Given the description of an element on the screen output the (x, y) to click on. 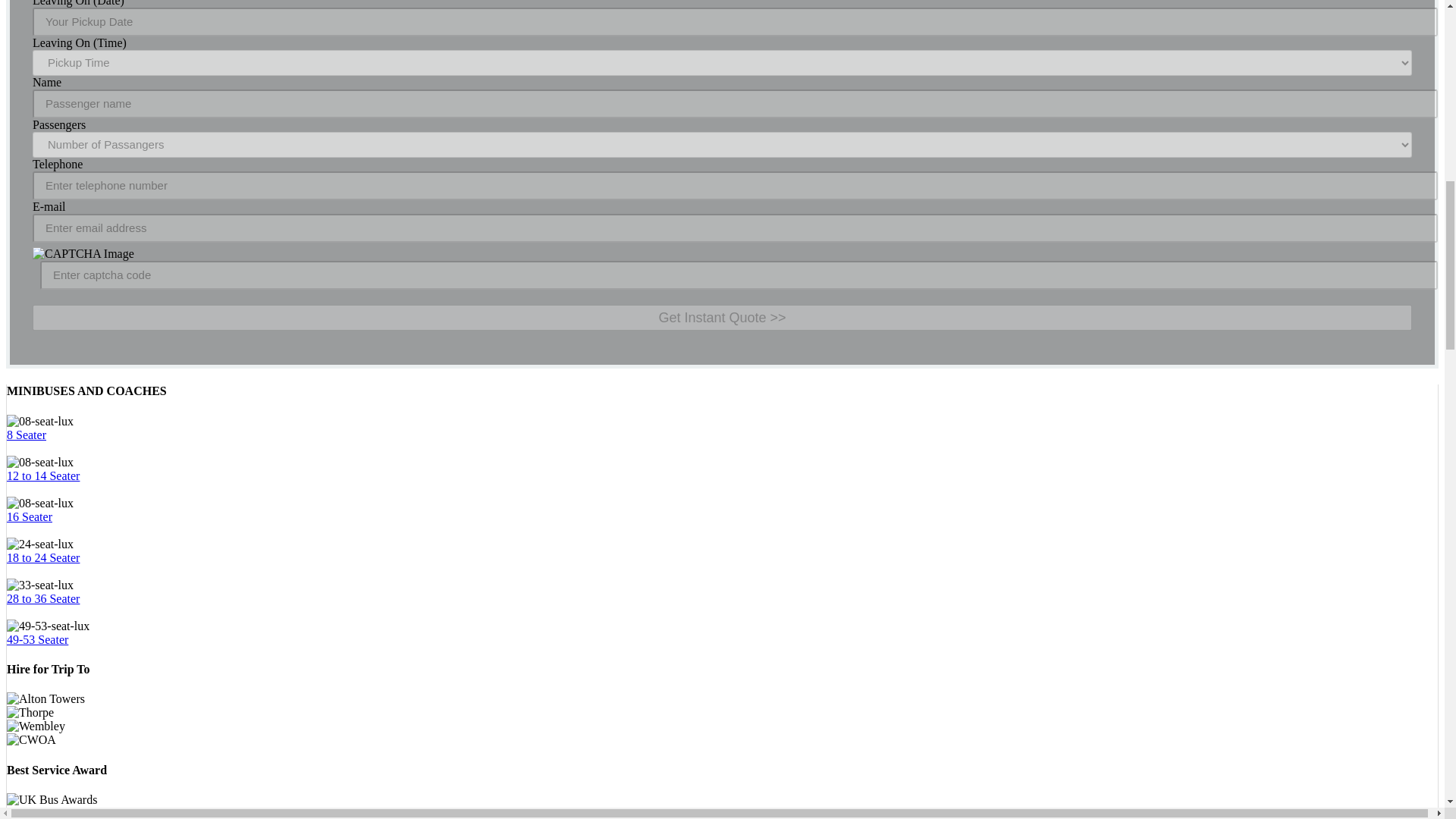
Pick Your Pickup Date (735, 21)
18 to 24 Seater (43, 557)
49-53 Seater (37, 639)
12 to 14 Seater (43, 475)
28 to 36 Seater (43, 598)
Select Your Pickup Time (722, 62)
Select Numbers of Passangers (722, 144)
8 Seater (26, 434)
16 Seater (29, 516)
Enter Your Name (735, 103)
